Given the description of an element on the screen output the (x, y) to click on. 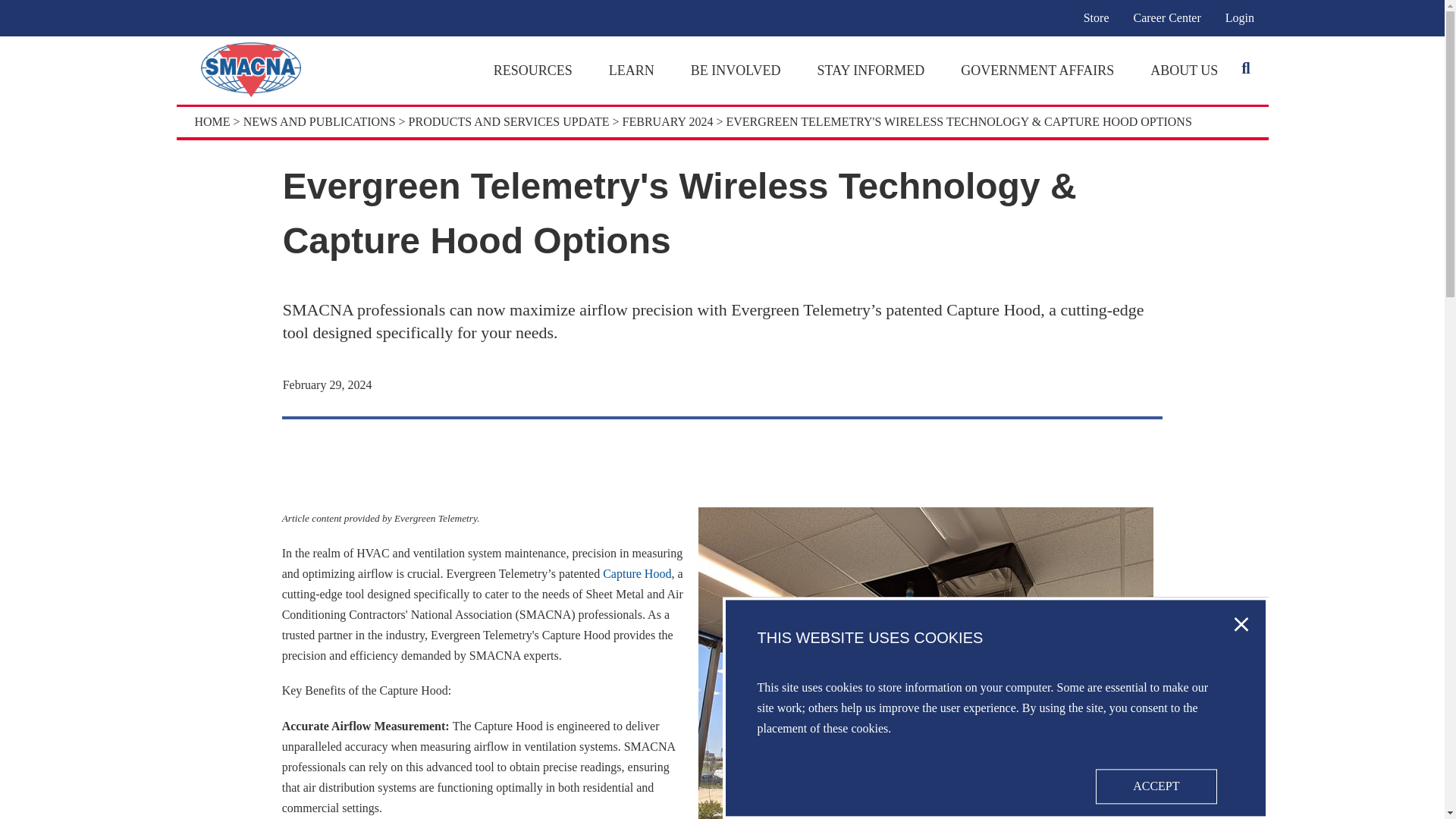
Store (1096, 17)
RESOURCES (532, 70)
LEARN (630, 70)
Login (1239, 17)
Career Center (1166, 17)
